Given the description of an element on the screen output the (x, y) to click on. 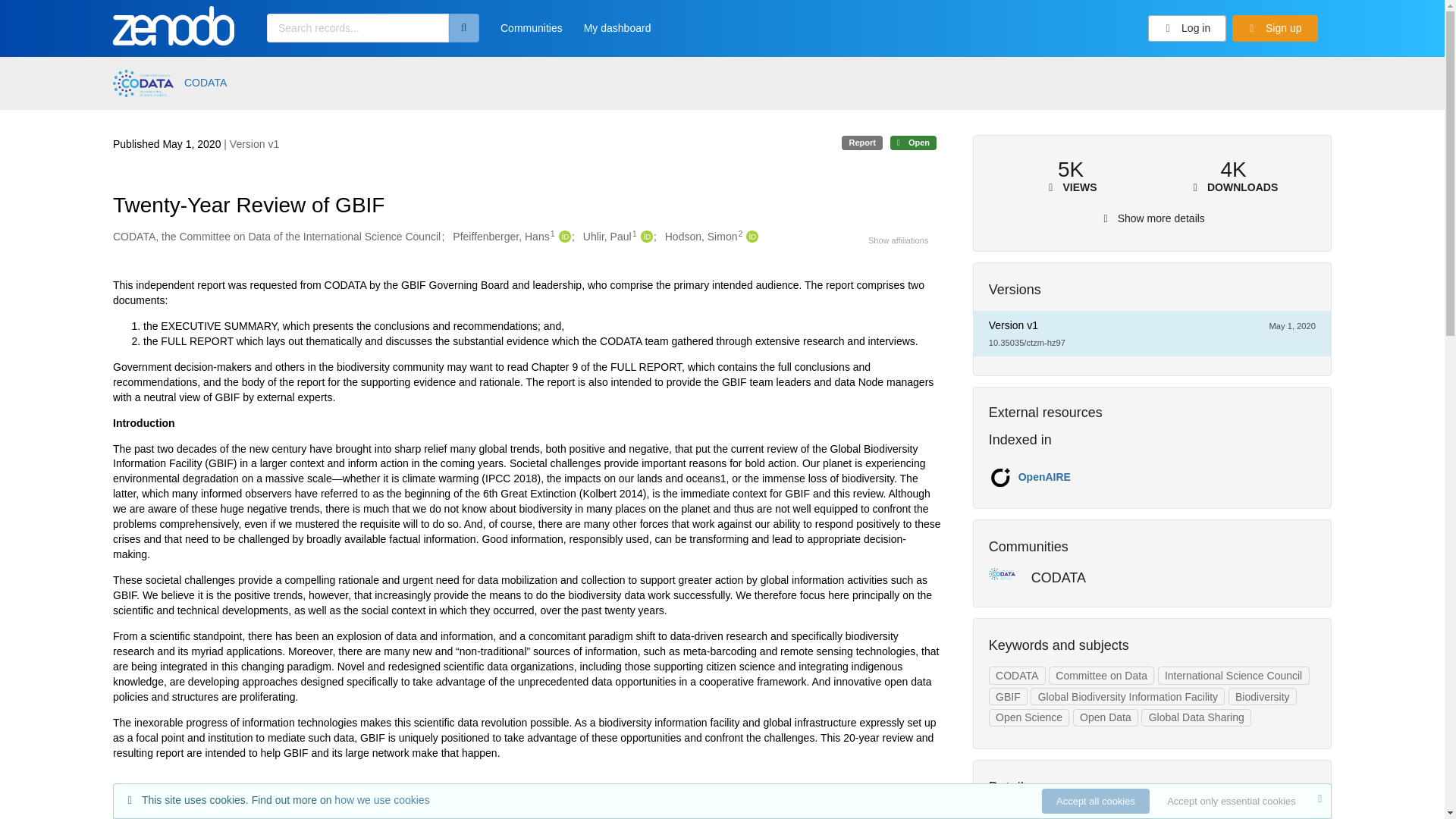
CODATA (205, 83)
International Science Council (1232, 675)
Uhlir, Paul1 (610, 237)
Committee on Data (1101, 675)
Search results for Biodiversity (1262, 696)
Search results for Open Science (1029, 718)
Show affiliations (898, 240)
Global Biodiversity Information Facility (1127, 696)
Hodson, Simon2 (703, 237)
OpenAIRE (1043, 476)
Search results for Global Data Sharing (1195, 718)
Search results for Open Data (1105, 718)
Communities (531, 32)
Open Data (1105, 718)
